Given the description of an element on the screen output the (x, y) to click on. 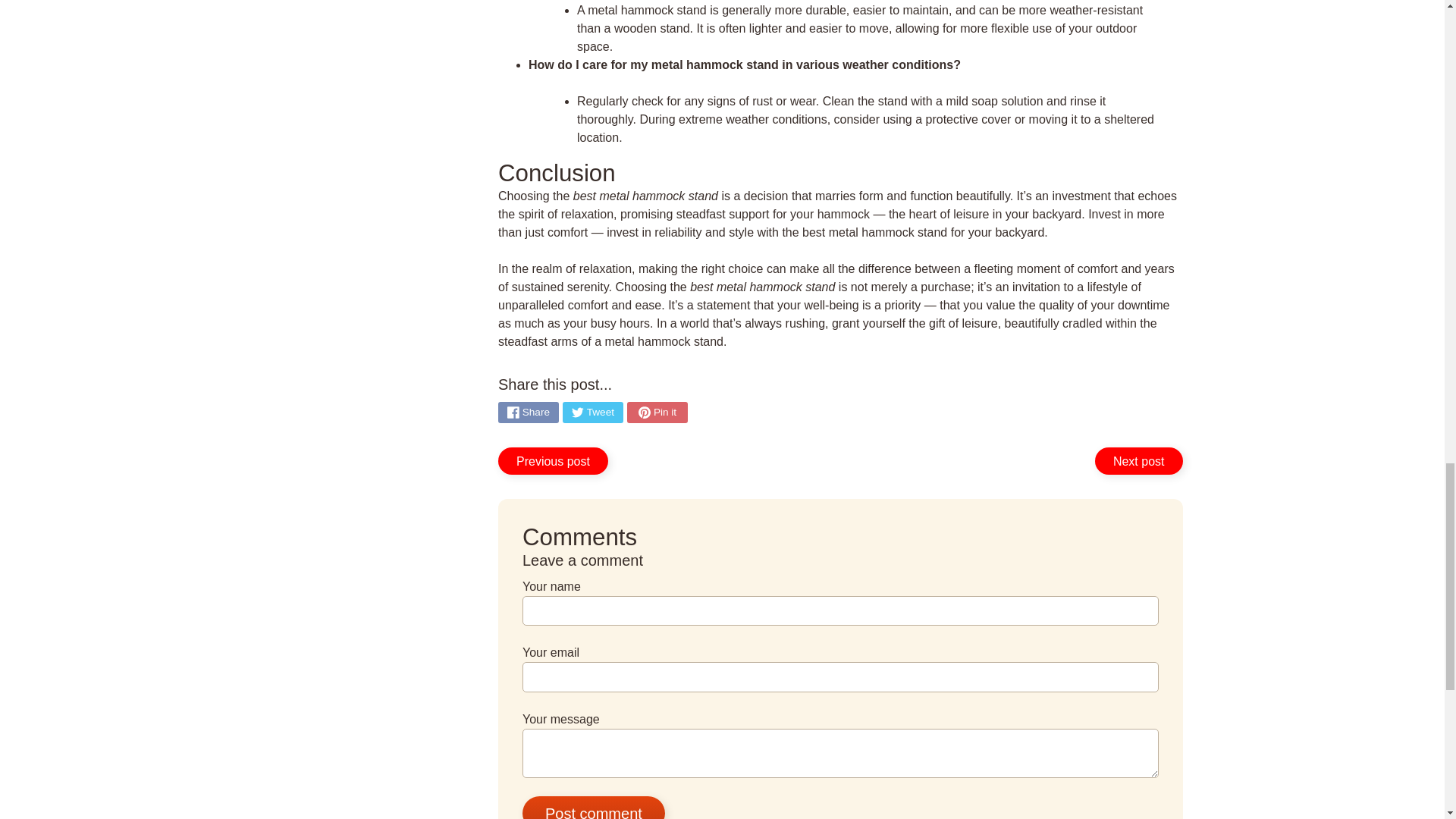
Post comment (593, 807)
Share on Facebook (528, 412)
Pin on Pinterest (657, 412)
Tweet on Twitter (592, 412)
